Given the description of an element on the screen output the (x, y) to click on. 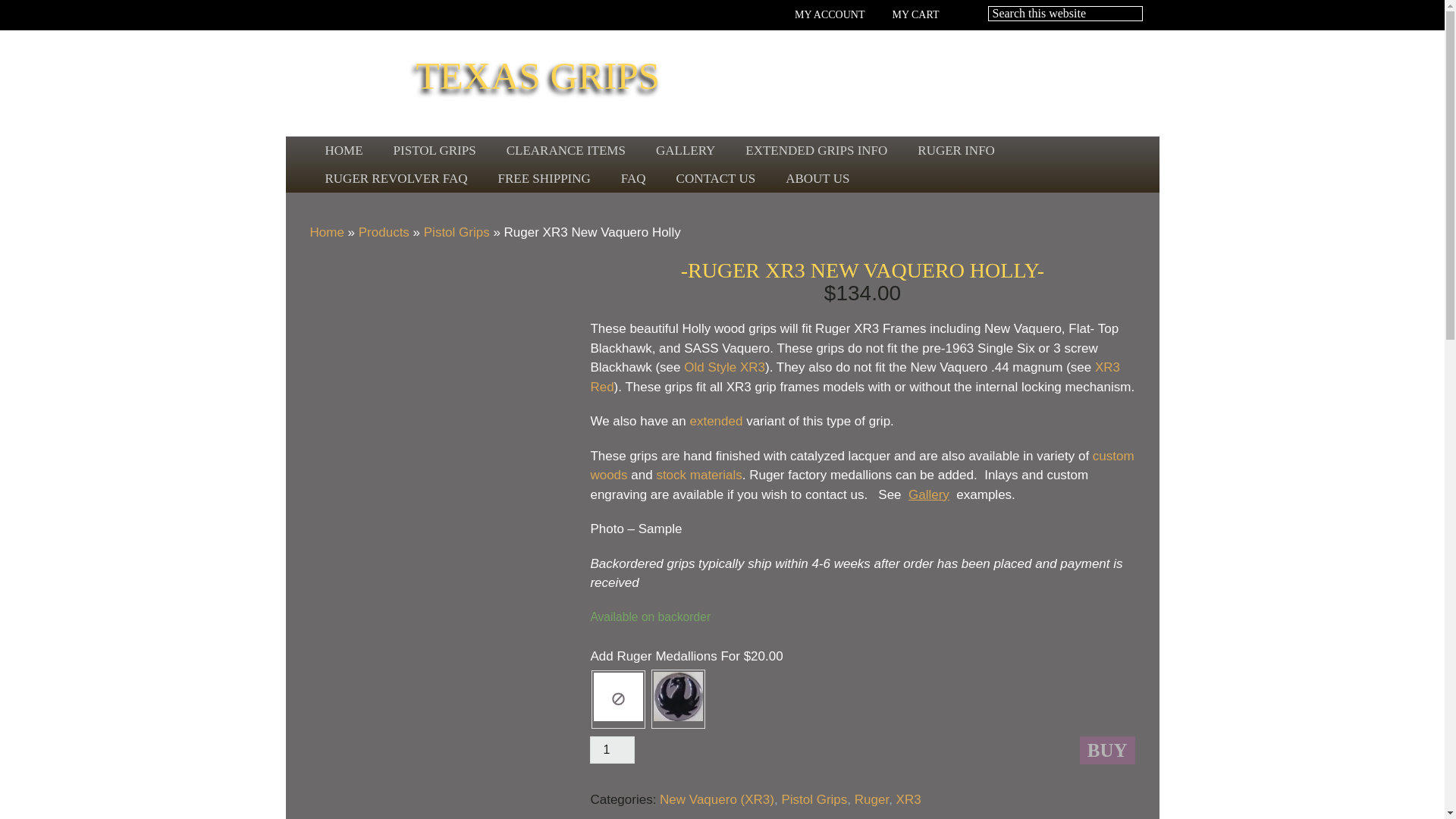
ABOUT US (817, 178)
Products (383, 232)
Old Style XR3 (724, 367)
Home (325, 232)
Pistol Grips (456, 232)
Pistol Grips (813, 799)
CONTACT US (716, 178)
RUGER REVOLVER FAQ (394, 178)
